Given the description of an element on the screen output the (x, y) to click on. 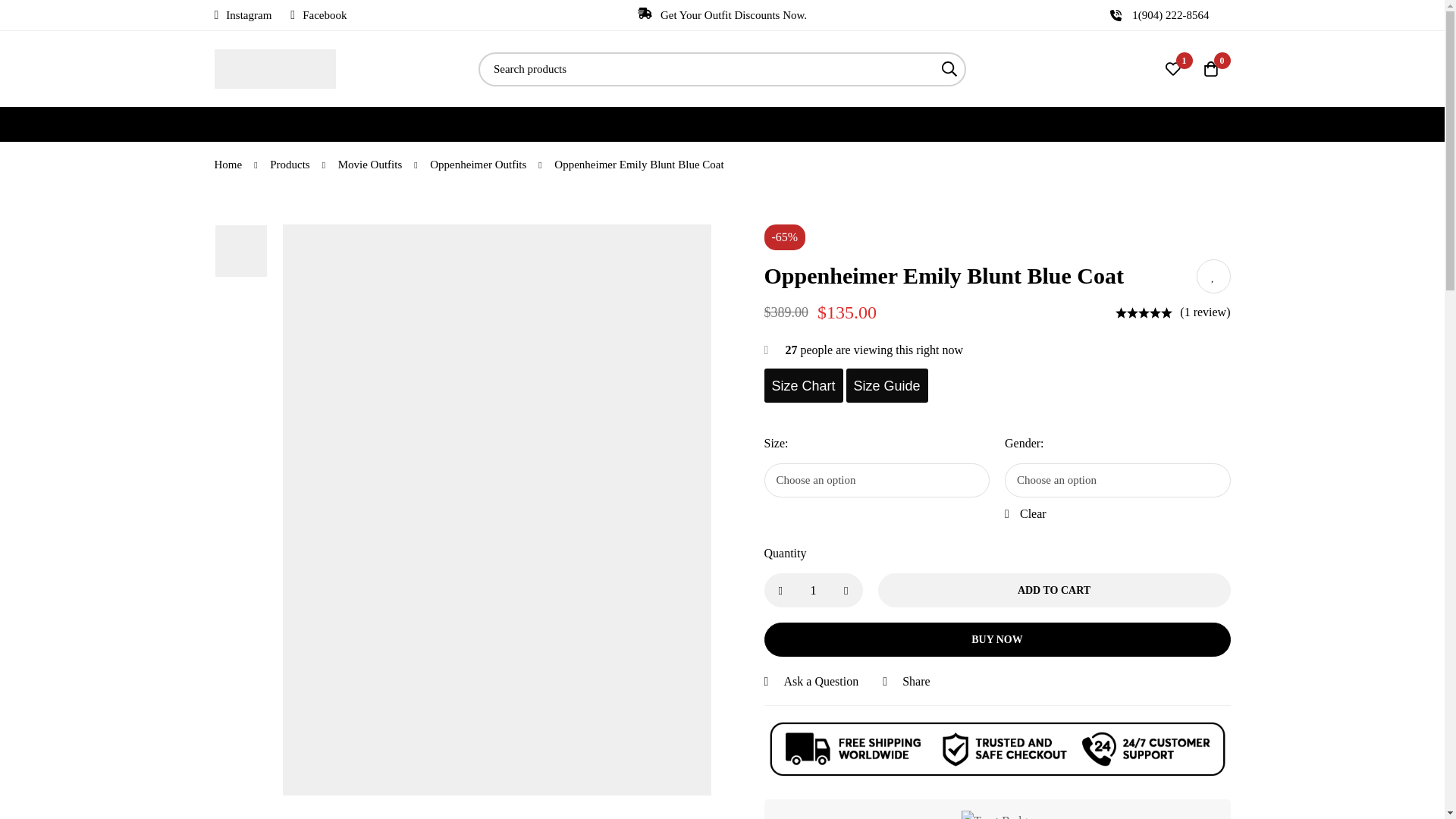
Oppenheimer Outfits (477, 164)
shipping-banner (997, 748)
  Get Your Outfit Discounts Now. (721, 14)
Clear (1025, 510)
1 (813, 590)
Add To Wishlist (1213, 276)
- (780, 590)
Home (227, 164)
Movie Outfits (370, 164)
Instagram (242, 14)
